Given the description of an element on the screen output the (x, y) to click on. 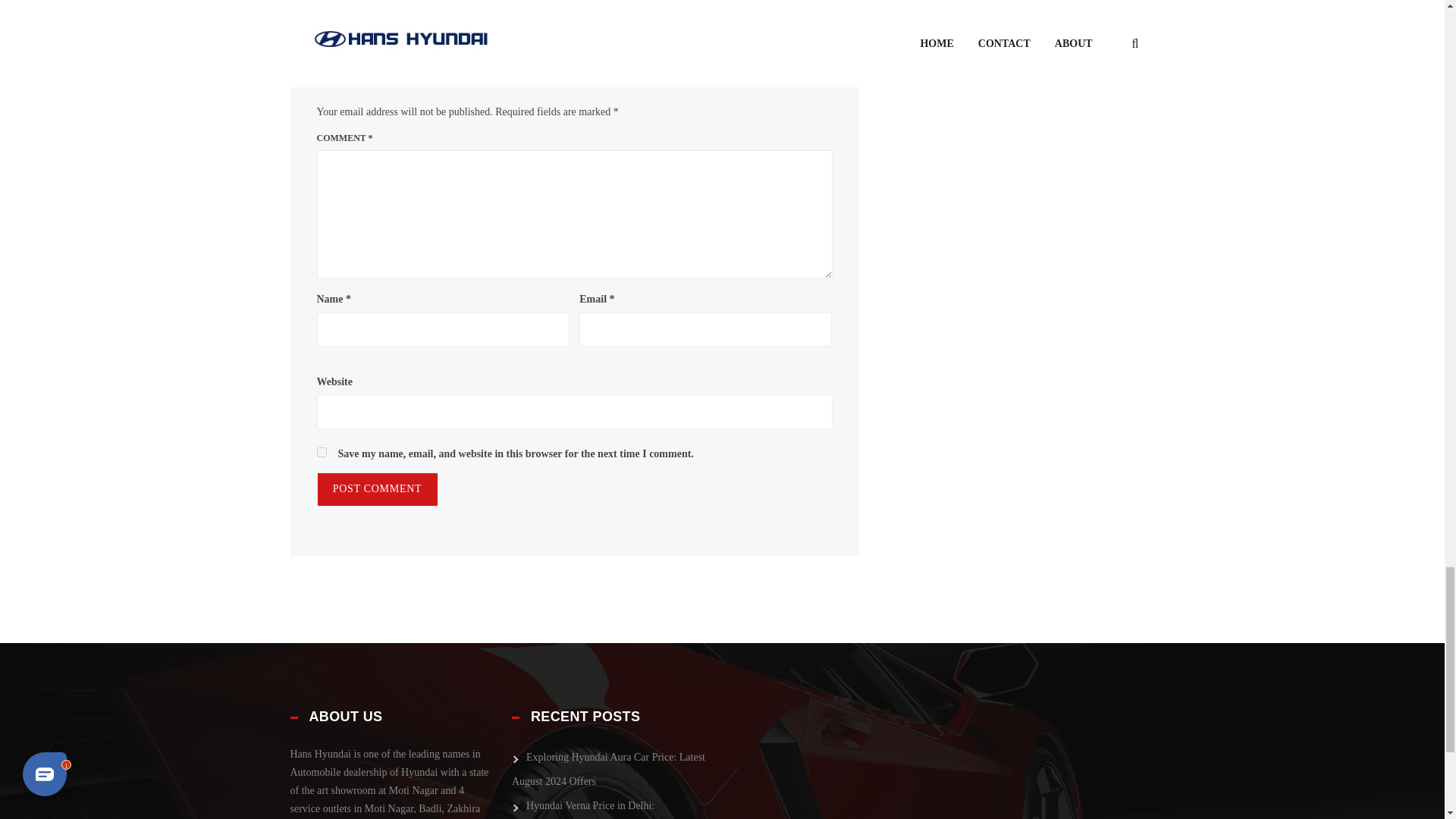
Post Comment (377, 489)
Previous Post (333, 2)
Exploring Hyundai Aura Car Price: Latest August 2024 Offers (608, 771)
Next Post (823, 2)
Why to Buy Hyundai Cars: Price, Service Cost (823, 2)
yes (321, 452)
Hyundai Car Care Guide (333, 2)
Post Comment (377, 489)
